Given the description of an element on the screen output the (x, y) to click on. 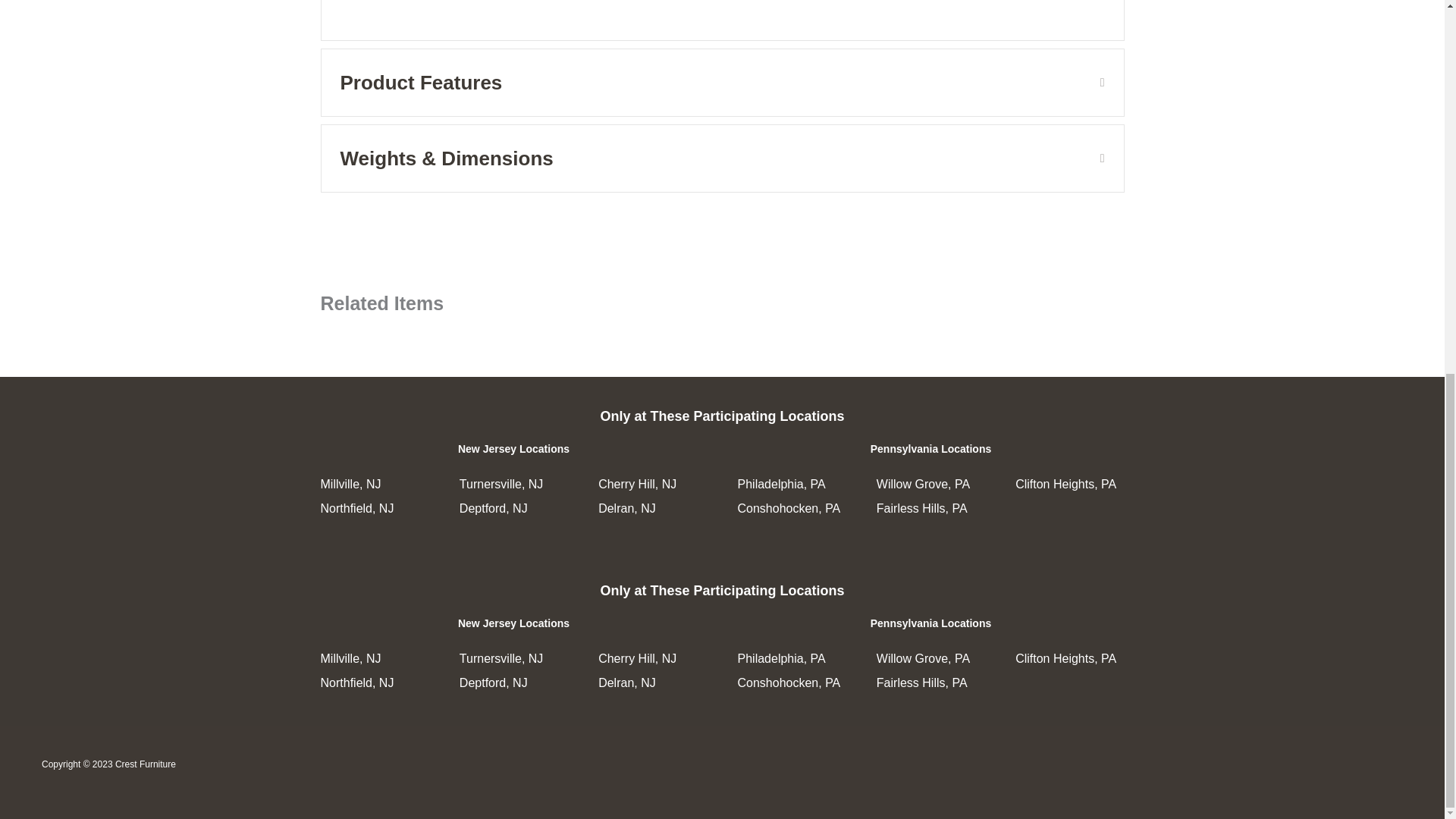
Fairless Hills, PA (922, 682)
Millville, NJ (350, 658)
Product Features (708, 82)
Delran, NJ (627, 682)
Clifton Heights, PA (1065, 658)
Willow Grove, PA (922, 658)
Deptford, NJ (493, 682)
Philadelphia, PA (780, 658)
Northfield, NJ (356, 682)
Conshohocken, PA (788, 682)
Turnersville, NJ (501, 658)
Cherry Hill, NJ (637, 658)
